Given the description of an element on the screen output the (x, y) to click on. 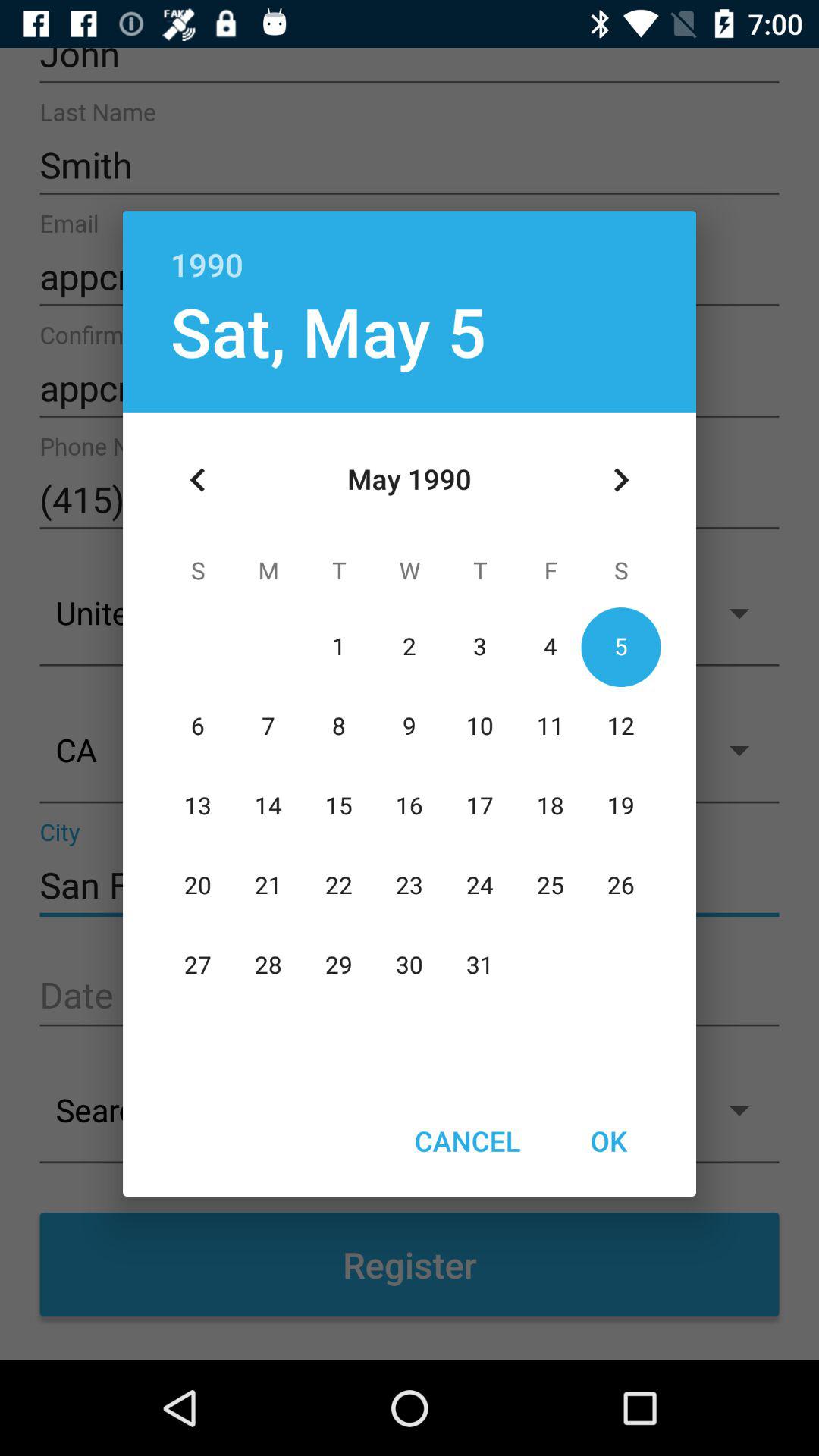
turn off item below the sat, may 5 (197, 479)
